Given the description of an element on the screen output the (x, y) to click on. 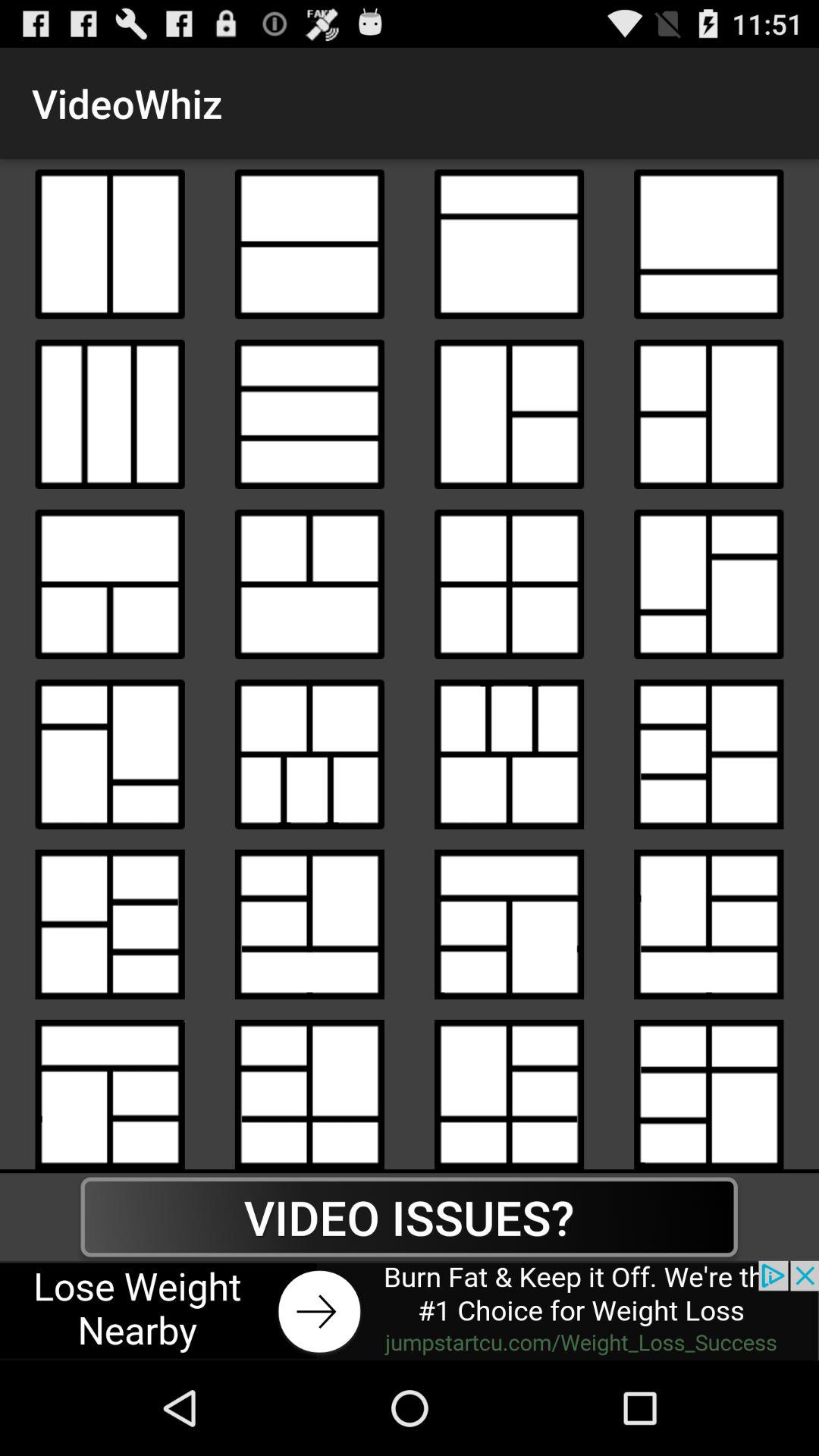
click to select (309, 754)
